Given the description of an element on the screen output the (x, y) to click on. 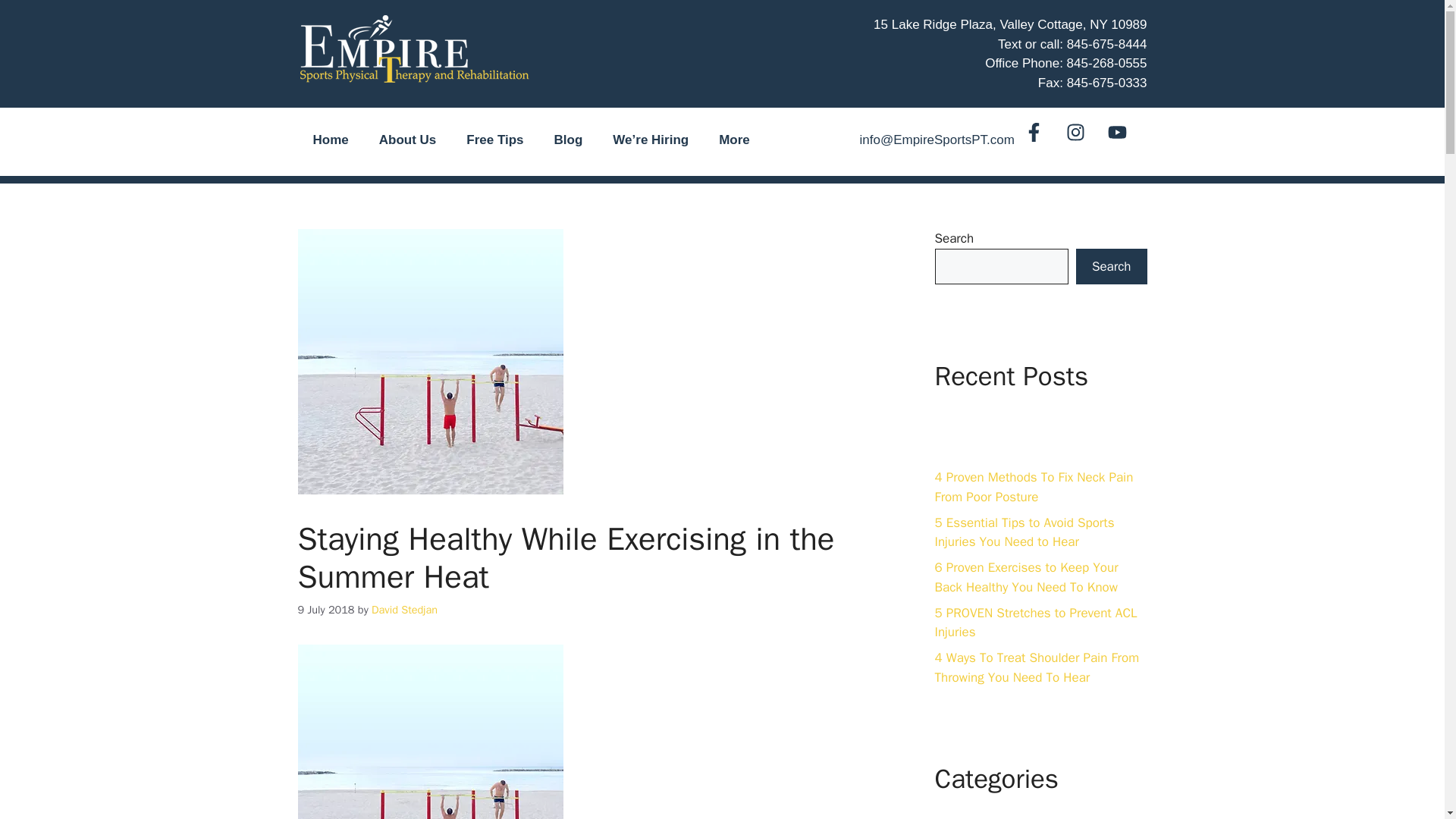
About Us (407, 140)
Free Tips (494, 140)
More (734, 140)
Home (329, 140)
View all posts by David Stedjan (404, 609)
Blog (568, 140)
